Given the description of an element on the screen output the (x, y) to click on. 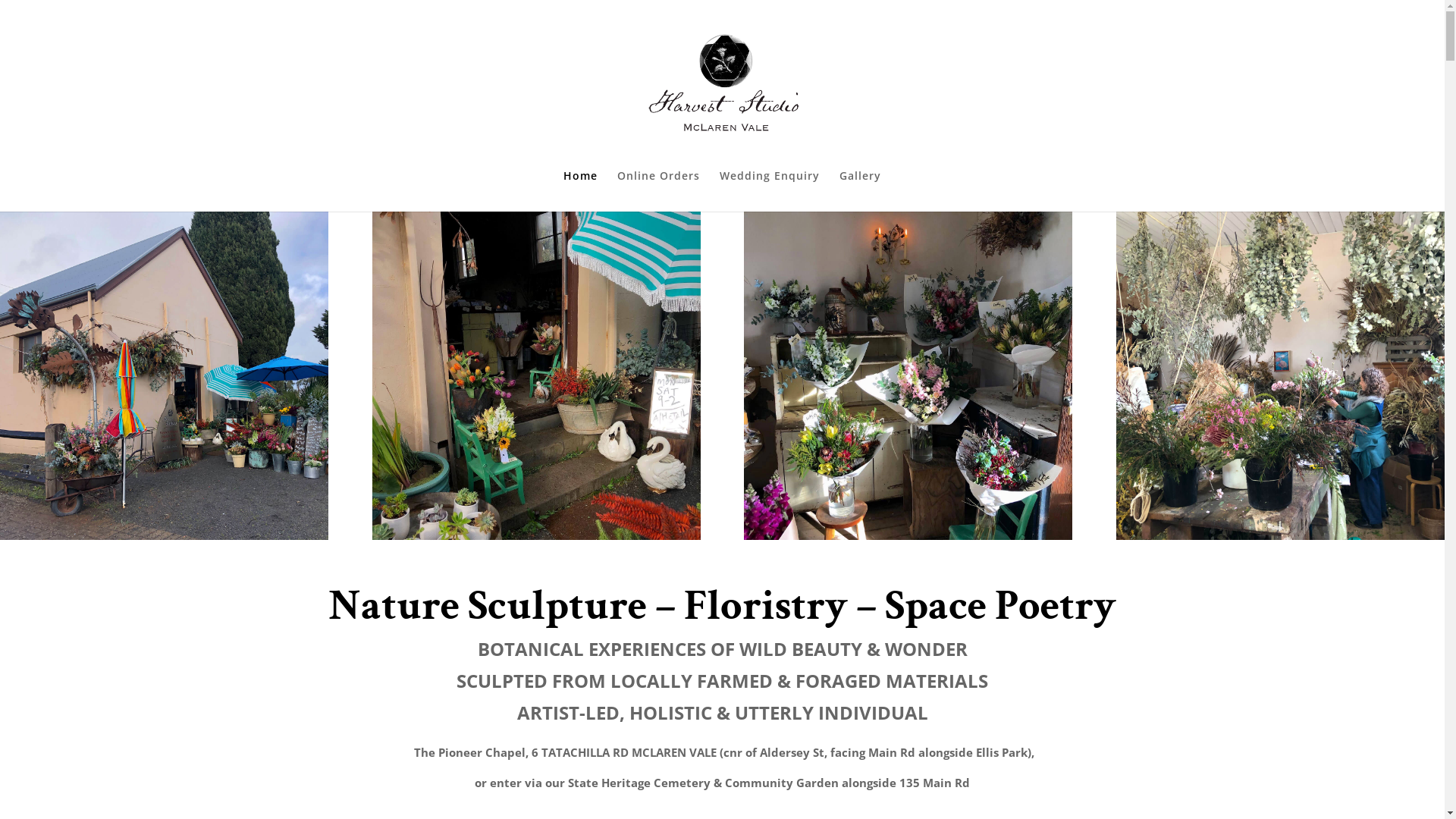
hope-interior Element type: hover (1280, 375)
Home Element type: text (580, 190)
Online Orders Element type: text (658, 190)
Wedding Enquiry Element type: text (769, 190)
exterior Element type: hover (164, 375)
entry Element type: hover (536, 375)
Gallery Element type: text (860, 190)
interior Element type: hover (907, 375)
